Given the description of an element on the screen output the (x, y) to click on. 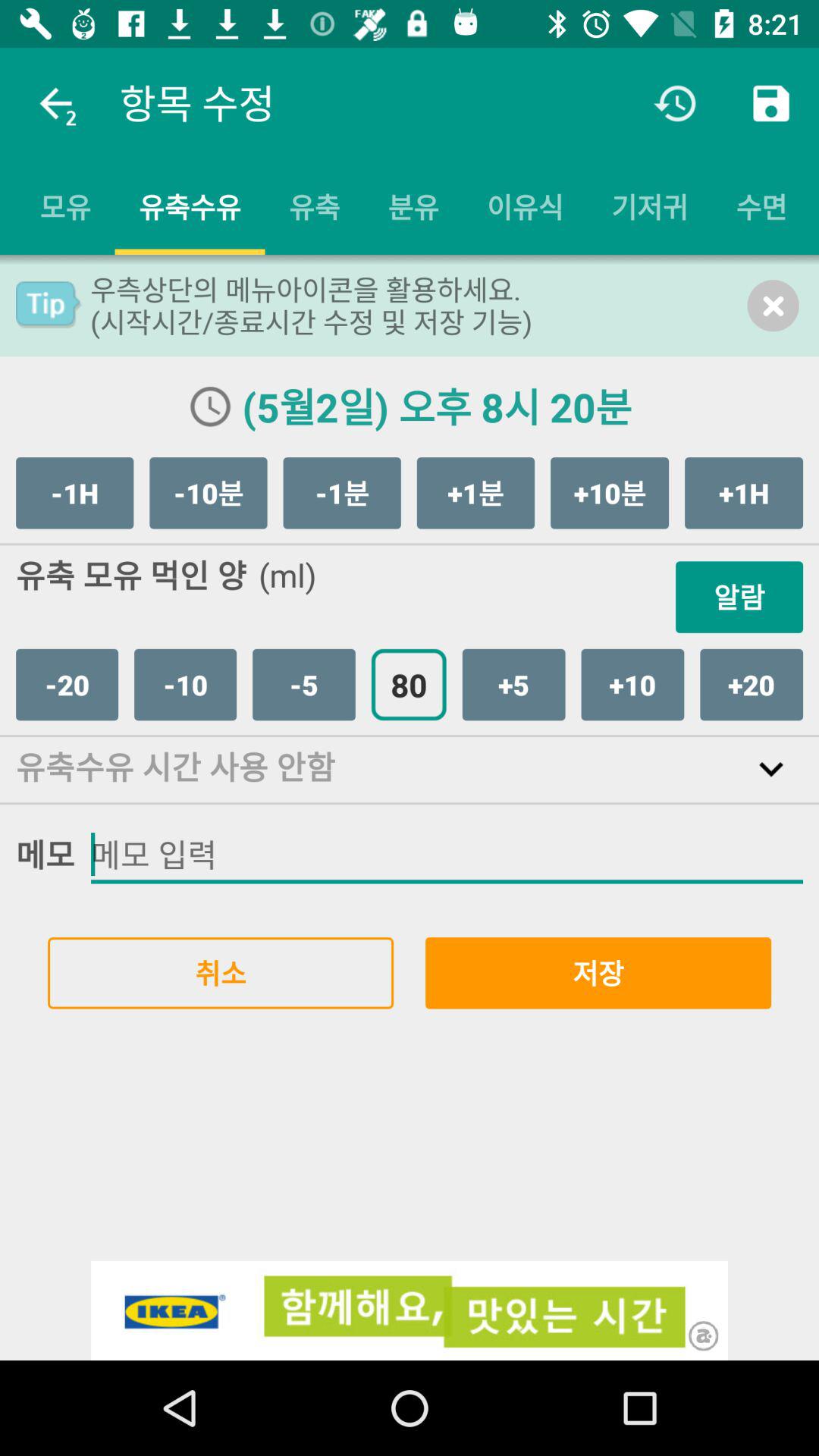
turn off 80 icon (408, 684)
